Given the description of an element on the screen output the (x, y) to click on. 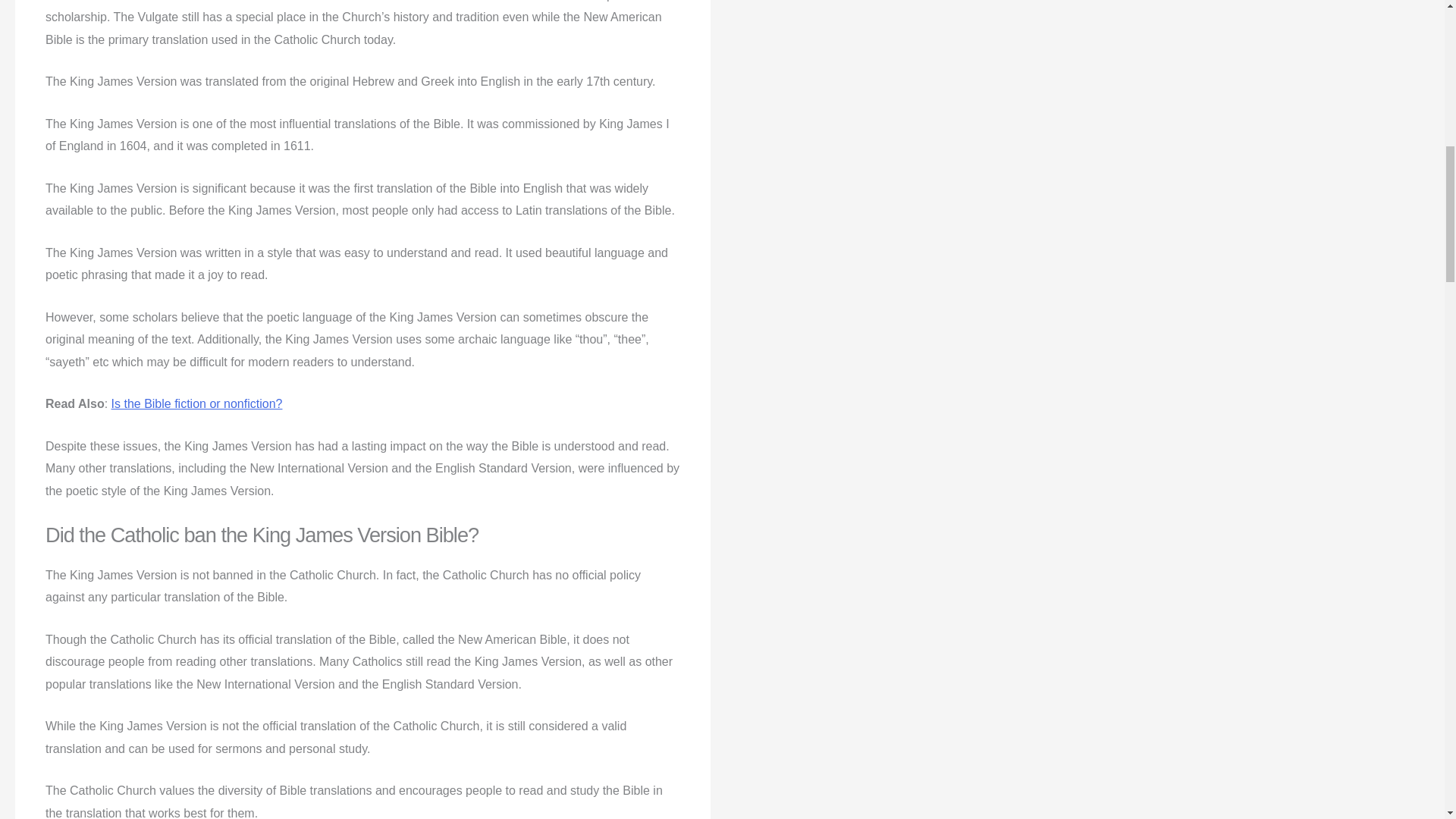
Is the Bible fiction or nonfiction? (197, 403)
